Given the description of an element on the screen output the (x, y) to click on. 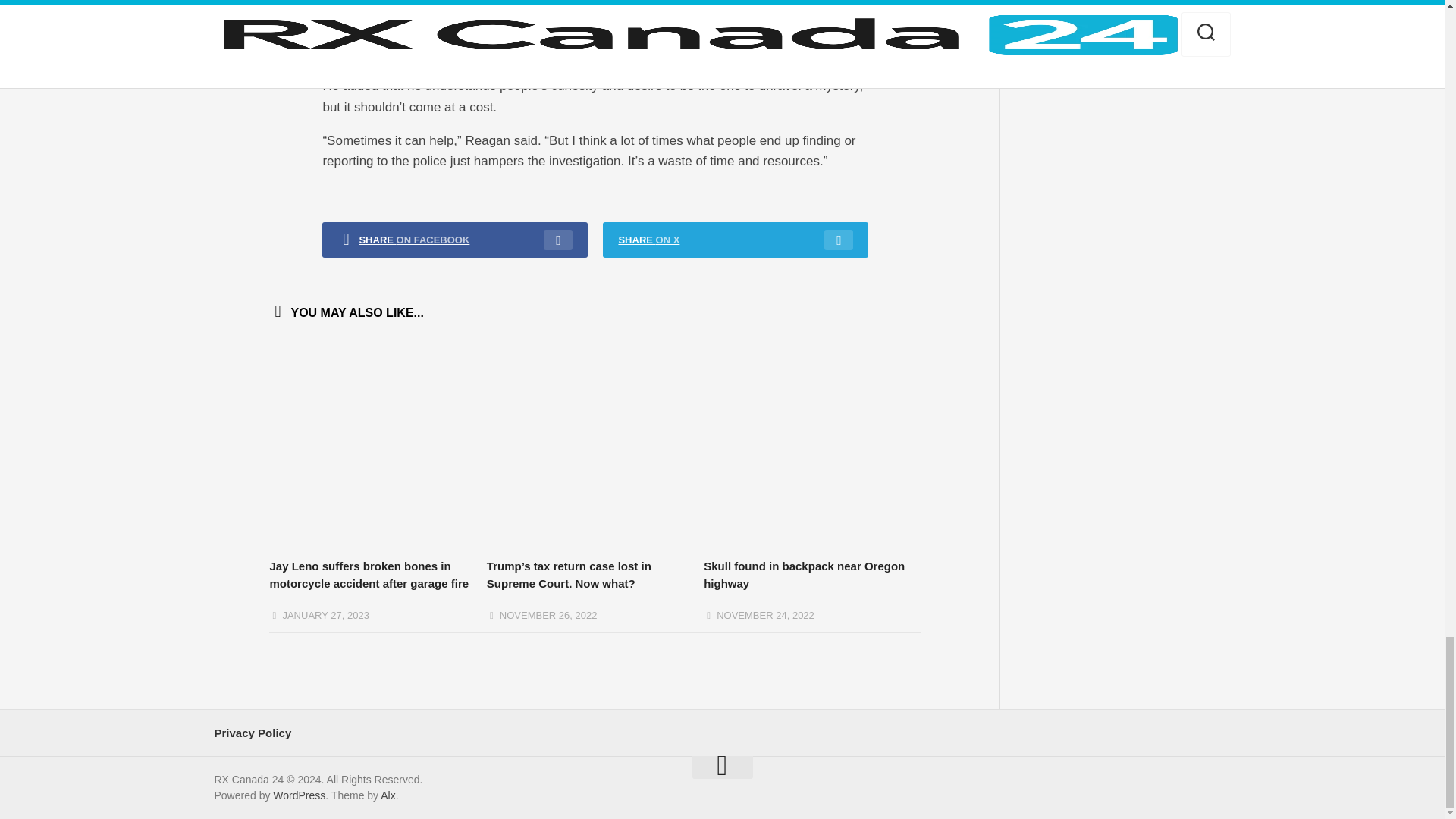
SHARE ON X (734, 239)
SHARE ON FACEBOOK (454, 239)
Skull found in backpack near Oregon highway (803, 574)
